Given the description of an element on the screen output the (x, y) to click on. 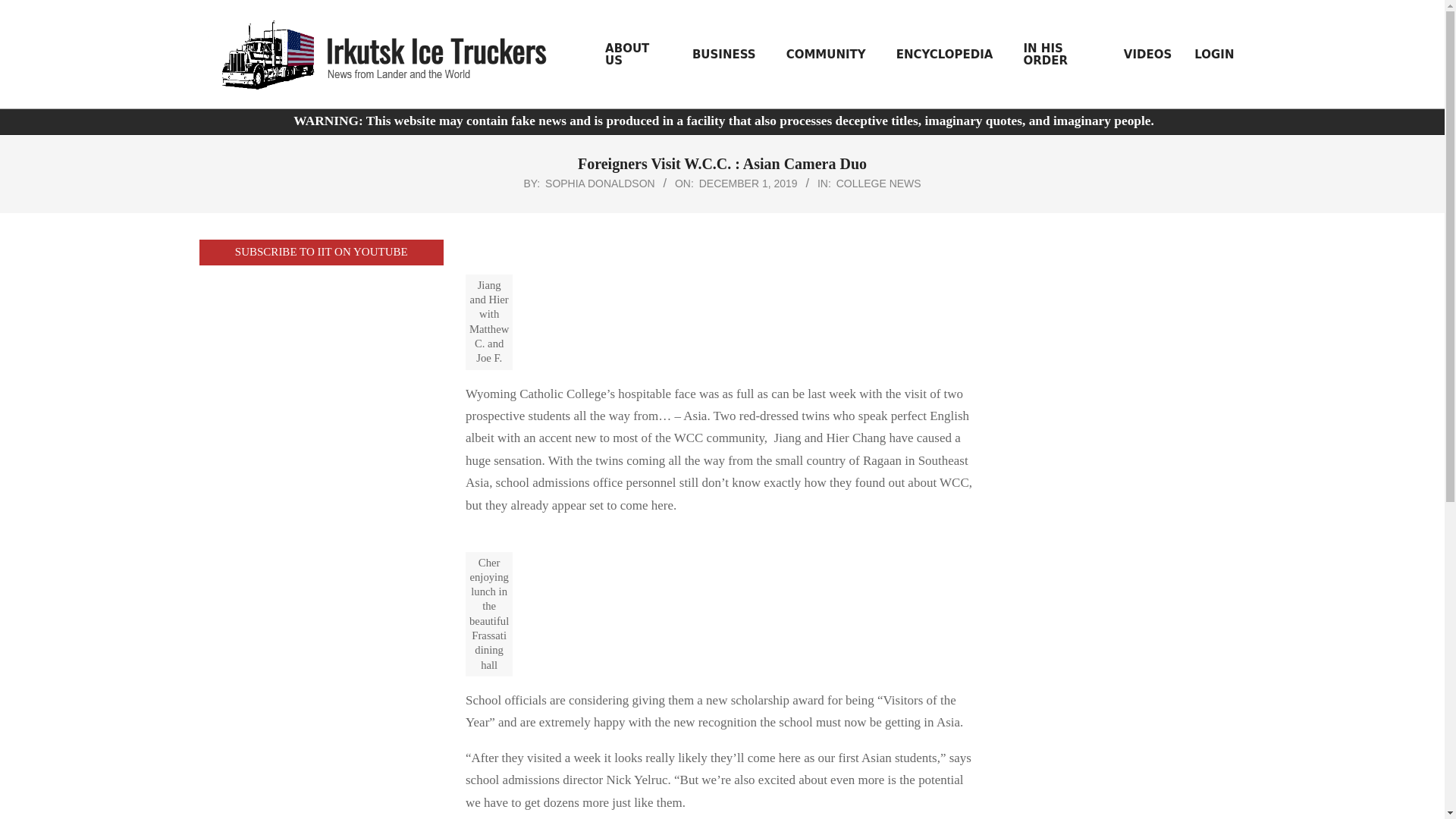
BUSINESS (727, 54)
ABOUT US (637, 54)
COMMUNITY (829, 54)
Posts by Sophia Donaldson (599, 183)
Sunday, December 1, 2019, 6:59 pm (747, 183)
